Given the description of an element on the screen output the (x, y) to click on. 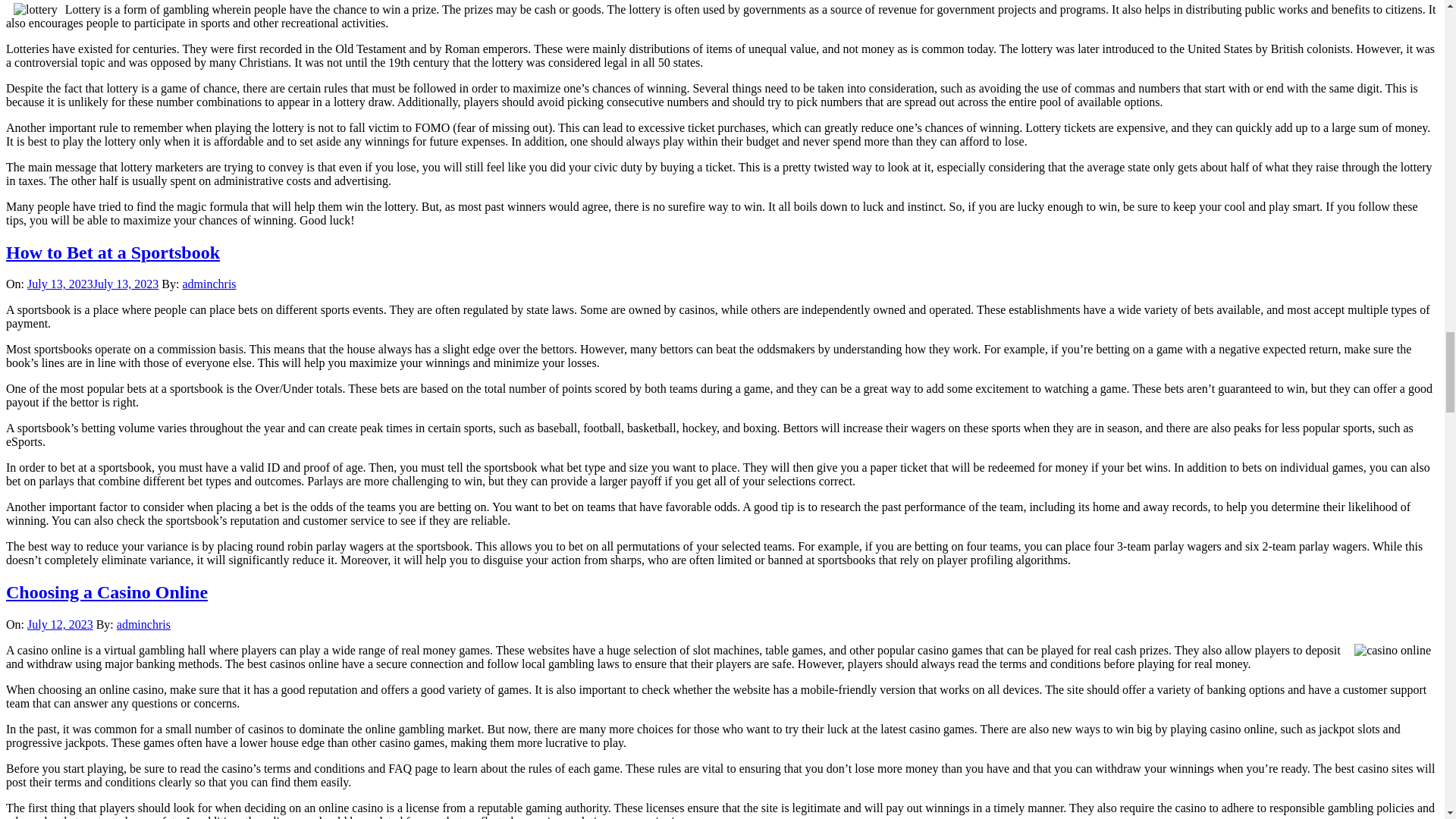
July 12, 2023 (60, 624)
adminchris (208, 283)
How to Bet at a Sportsbook (112, 252)
Choosing a Casino Online (106, 591)
July 13, 2023July 13, 2023 (92, 283)
adminchris (143, 624)
